Given the description of an element on the screen output the (x, y) to click on. 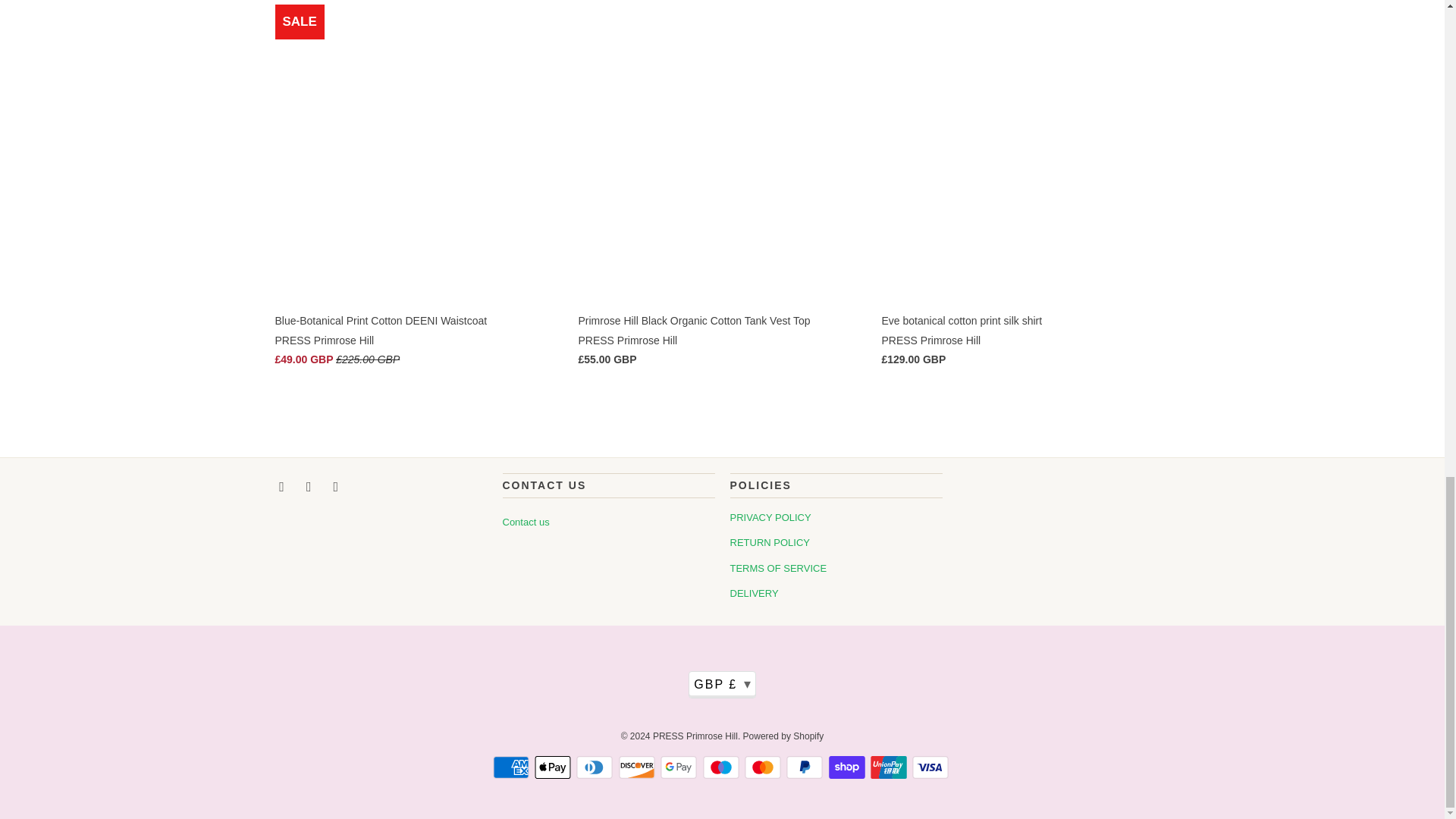
Visa (932, 766)
Union Pay (890, 766)
Diners Club (595, 766)
PayPal (805, 766)
Google Pay (680, 766)
American Express (512, 766)
Shop Pay (847, 766)
Mastercard (764, 766)
Discover (638, 766)
Apple Pay (553, 766)
